Given the description of an element on the screen output the (x, y) to click on. 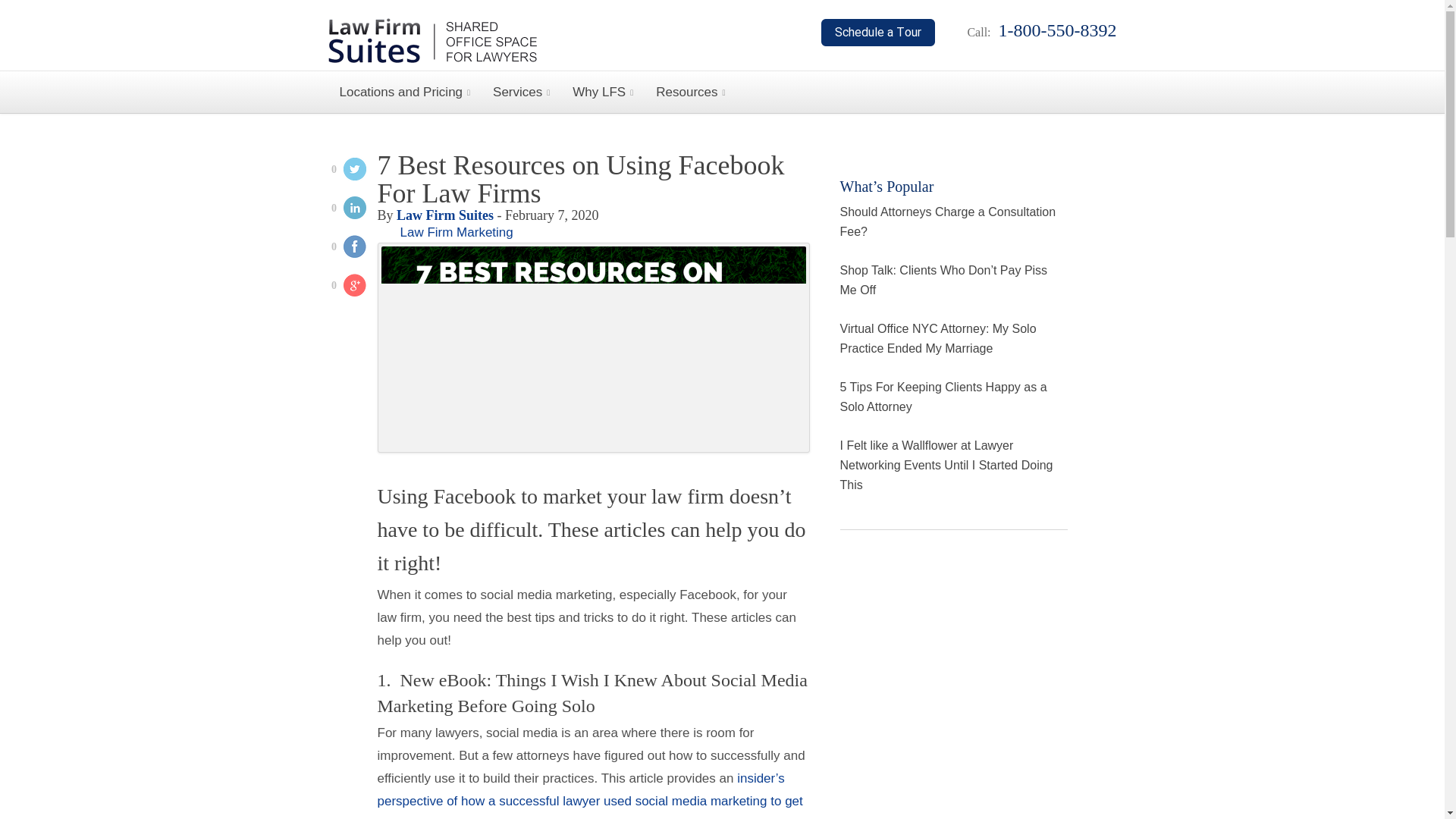
Law Firm Suites (444, 215)
0 (342, 287)
5 Tips For Keeping Clients Happy as a Solo Attorney (943, 396)
0 (342, 171)
Why LFS (602, 92)
Services (520, 92)
Resources (690, 92)
Locations and Pricing (404, 92)
